Given the description of an element on the screen output the (x, y) to click on. 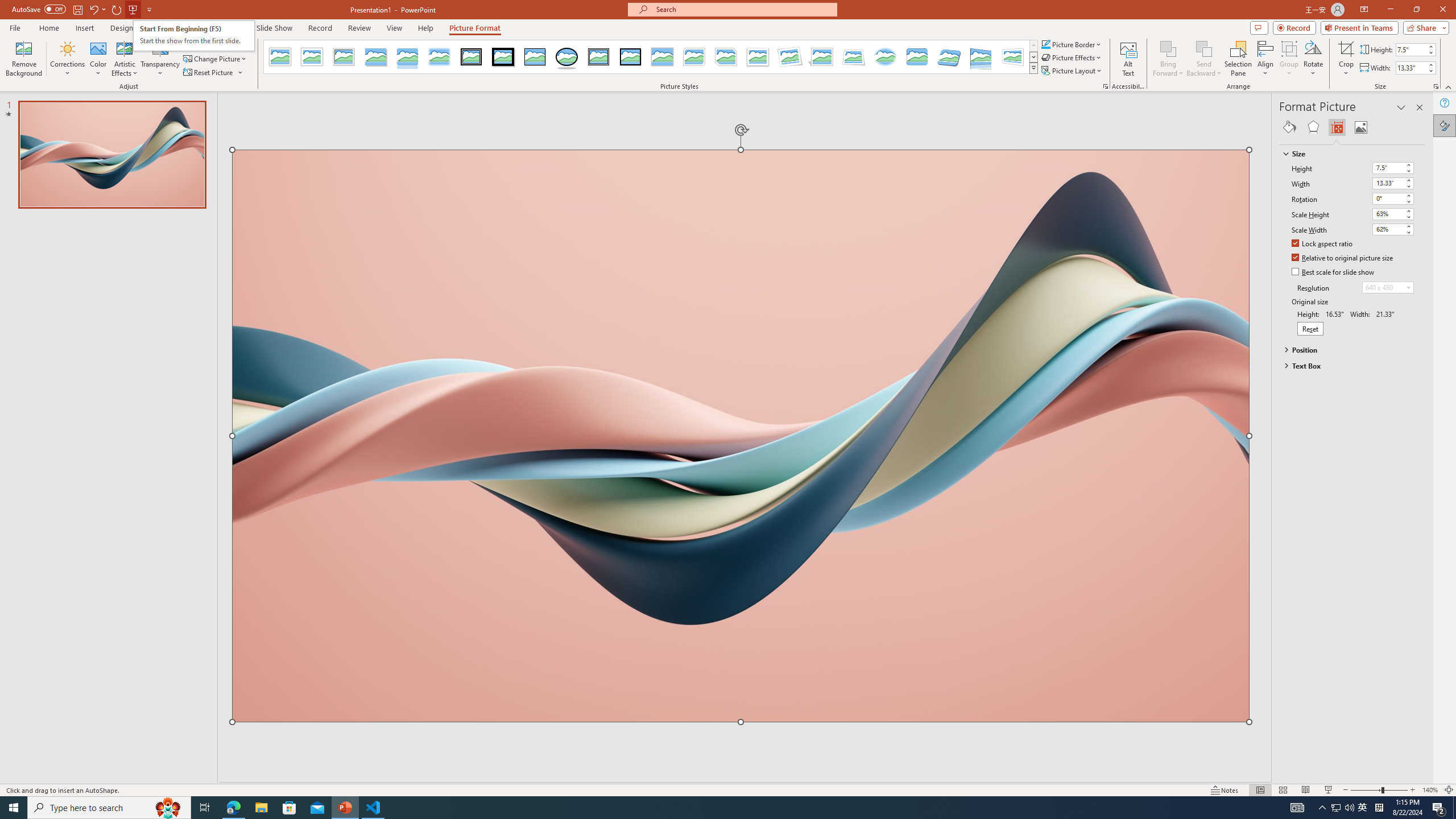
Scale Height (1393, 214)
Review (359, 28)
Text Box (1347, 365)
Class: NetUIScrollBar (1420, 460)
Reflected Rounded Rectangle (407, 56)
Selection Pane... (1238, 58)
Picture Effects (1072, 56)
Share (1423, 27)
Scale Width (1388, 229)
Wavy 3D art (740, 435)
Home (48, 28)
Present in Teams (1359, 27)
Zoom (1379, 790)
Zoom 140% (1430, 790)
Slide Show (1328, 790)
